Given the description of an element on the screen output the (x, y) to click on. 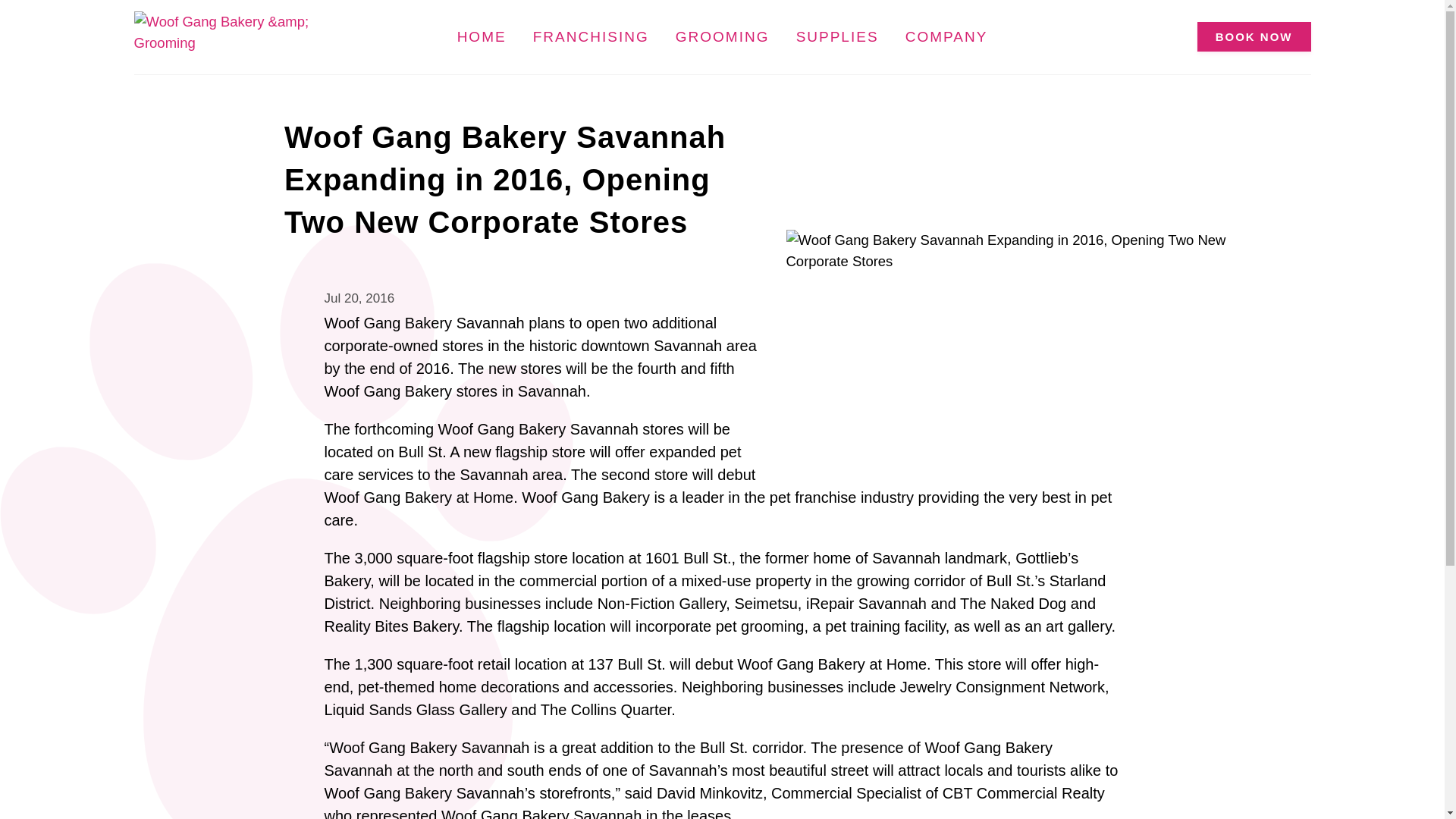
SUPPLIES (836, 37)
HOME (481, 37)
FRANCHISING (591, 37)
GROOMING (721, 37)
COMPANY (945, 37)
BOOK NOW (1253, 36)
